Given the description of an element on the screen output the (x, y) to click on. 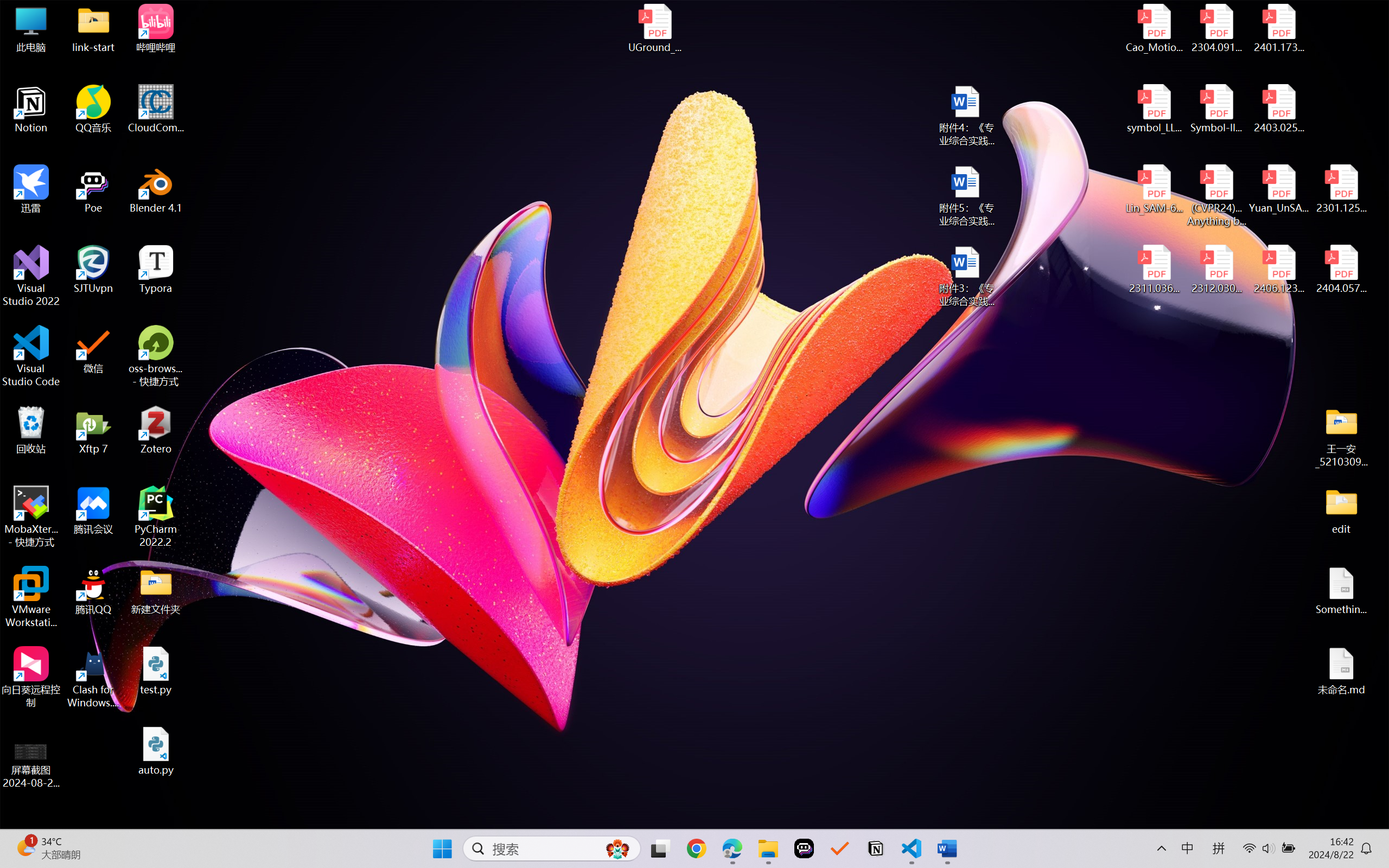
2401.17399v1.pdf (1278, 28)
test.py (156, 670)
SJTUvpn (93, 269)
Typora (156, 269)
Google Chrome (696, 848)
